Given the description of an element on the screen output the (x, y) to click on. 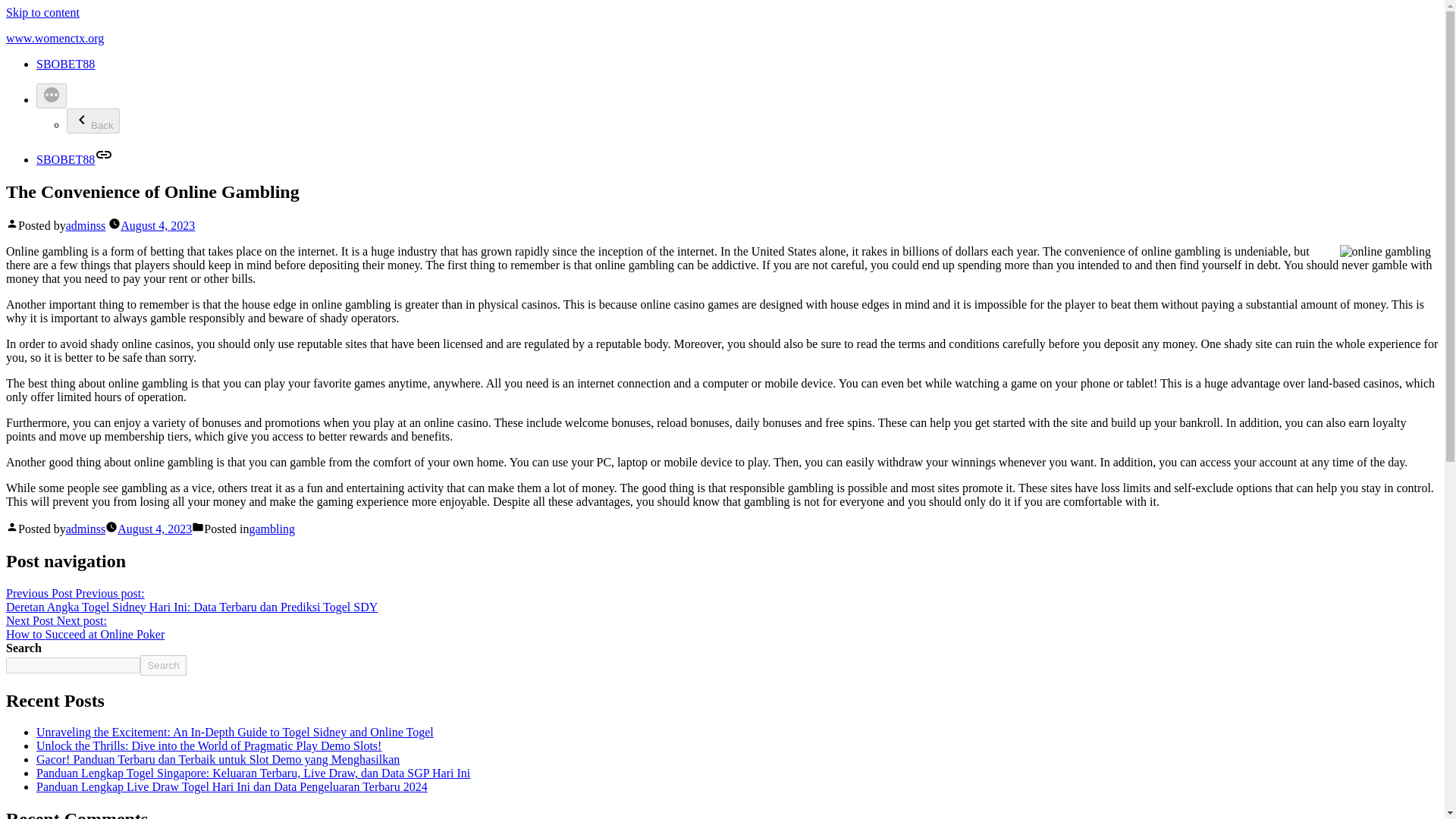
Search (162, 665)
gambling (271, 528)
adminss (84, 225)
August 4, 2023 (84, 627)
adminss (154, 528)
Back (84, 528)
August 4, 2023 (92, 120)
SBOBET88 (157, 225)
